Given the description of an element on the screen output the (x, y) to click on. 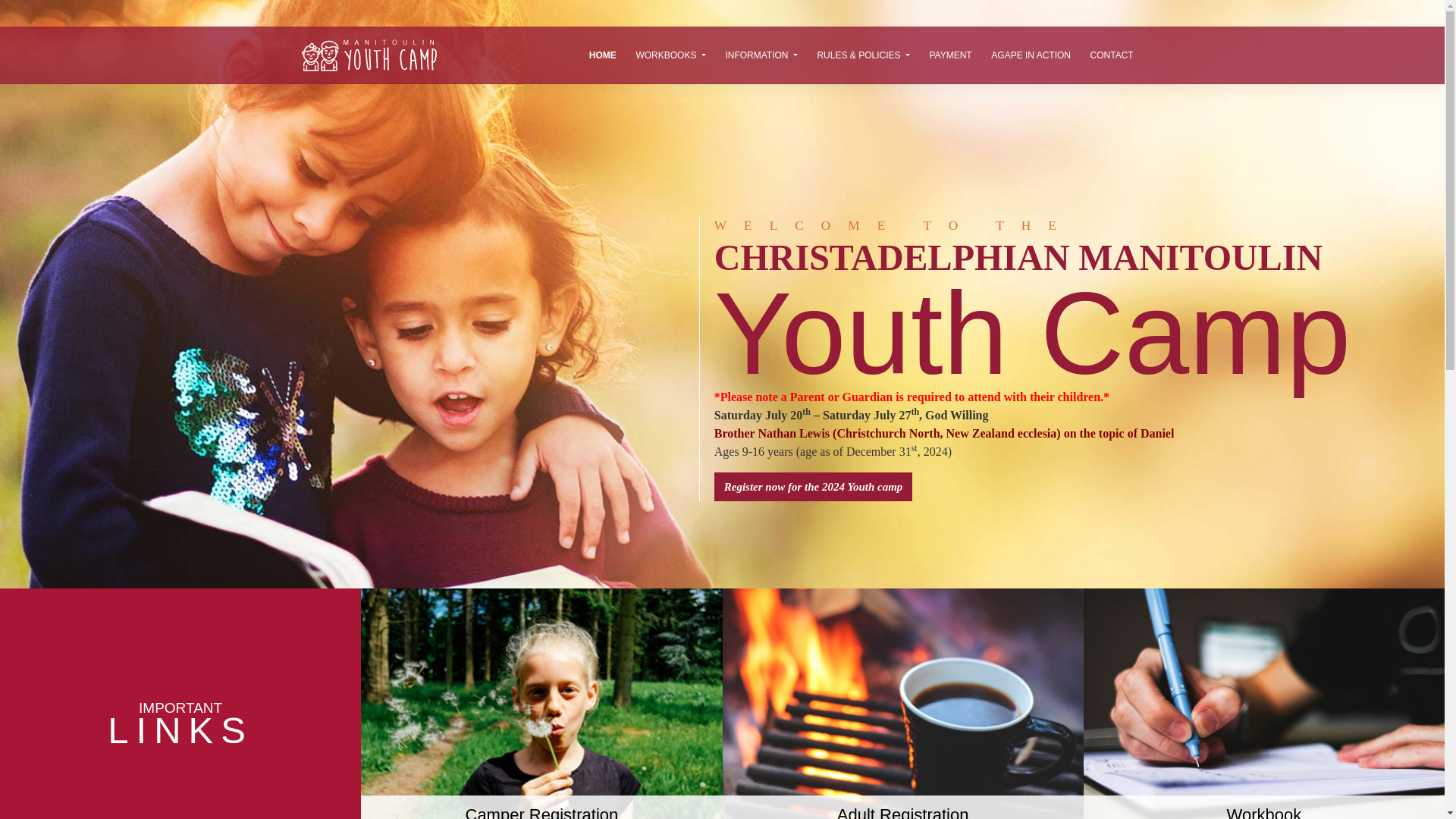
Workbooks (671, 55)
CONTACT (1111, 55)
Register now for the 2024 Youth camp (812, 486)
Information (762, 55)
WORKBOOKS (671, 55)
HOME (602, 55)
AGAPE IN ACTION (1030, 55)
INFORMATION (762, 55)
Home (602, 55)
